Given the description of an element on the screen output the (x, y) to click on. 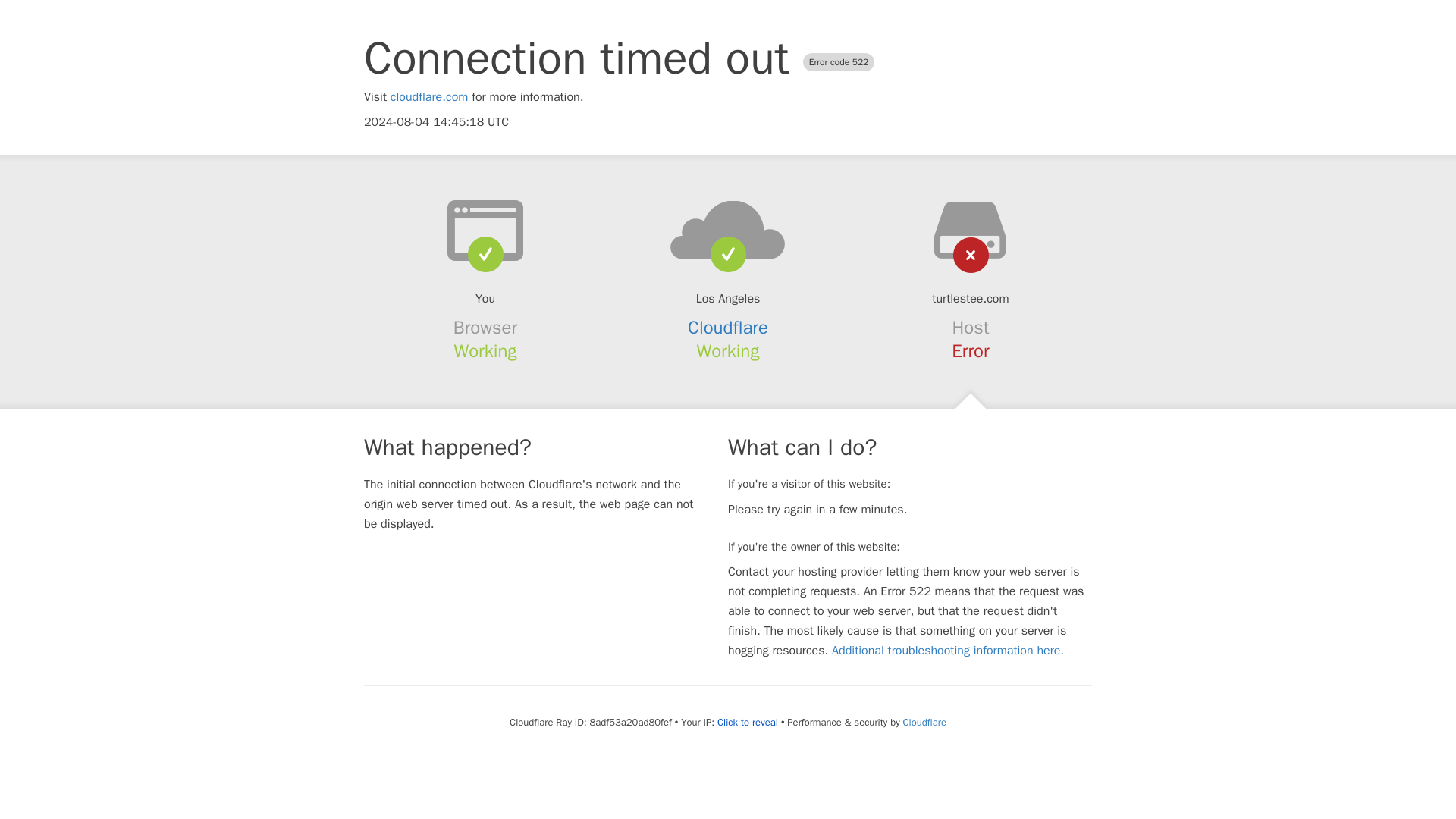
cloudflare.com (429, 96)
Cloudflare (924, 721)
Additional troubleshooting information here. (947, 650)
Click to reveal (747, 722)
Cloudflare (727, 327)
